Given the description of an element on the screen output the (x, y) to click on. 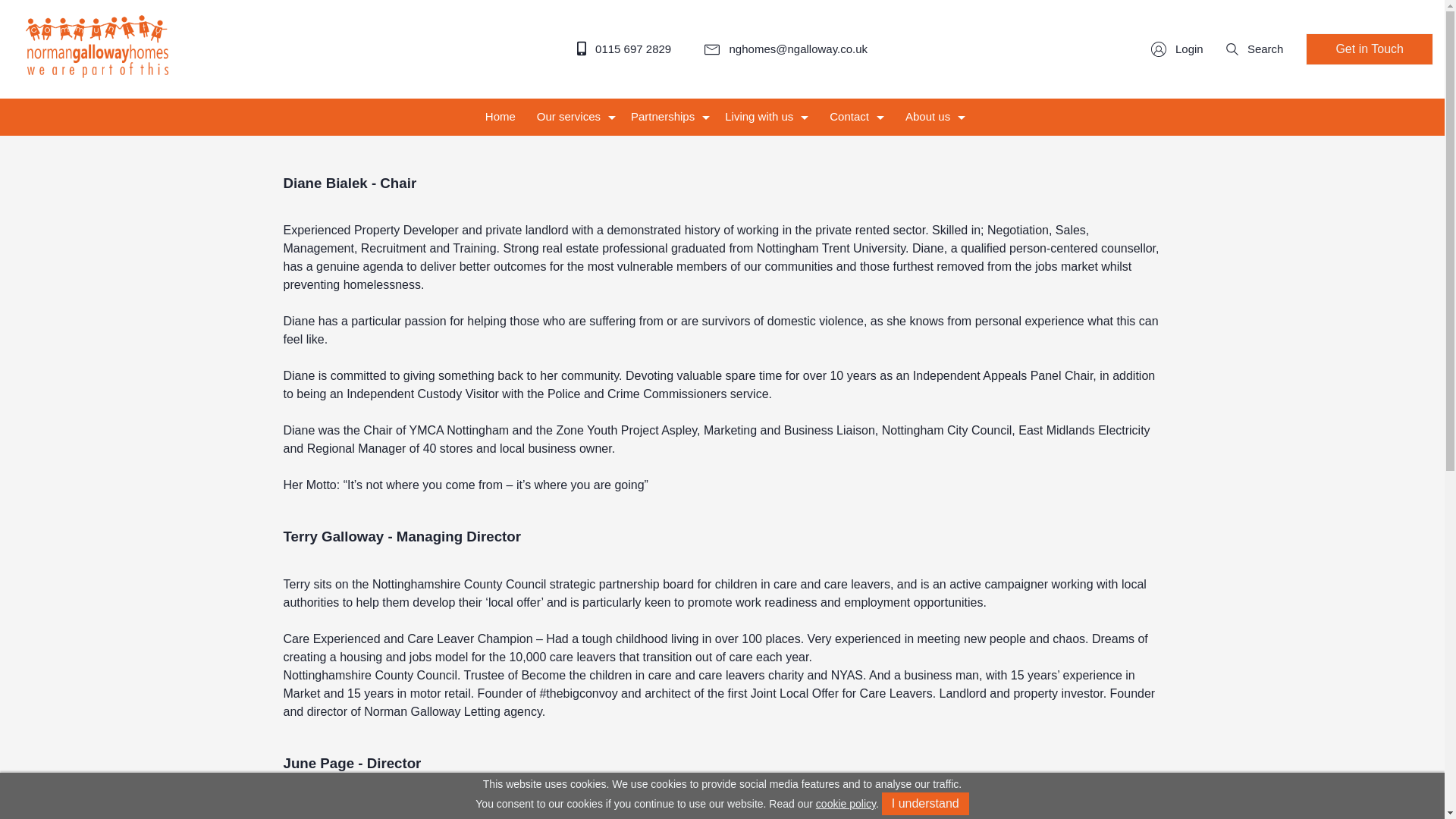
Get in Touch (1369, 49)
0115 697 2829 (623, 48)
Home (500, 116)
Login (1177, 48)
I understand (925, 803)
Contact (856, 116)
Search (1254, 48)
cookie policy (845, 803)
